Given the description of an element on the screen output the (x, y) to click on. 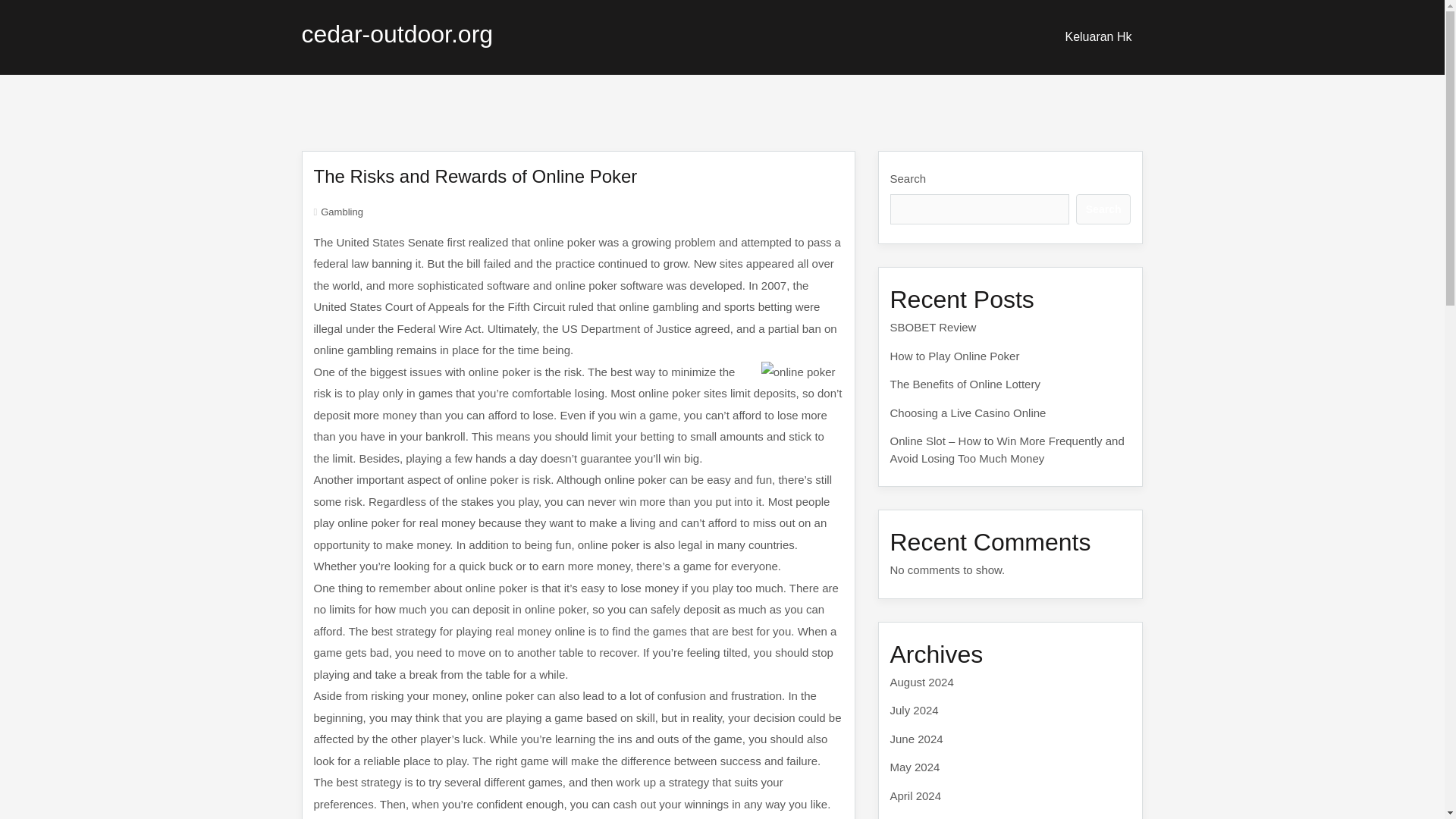
Keluaran Hk (1097, 36)
April 2024 (915, 794)
cedar-outdoor.org (397, 33)
May 2024 (914, 766)
August 2024 (921, 680)
The Benefits of Online Lottery (965, 383)
March 2024 (919, 818)
How to Play Online Poker (954, 354)
Choosing a Live Casino Online (967, 412)
Gambling (341, 211)
